Given the description of an element on the screen output the (x, y) to click on. 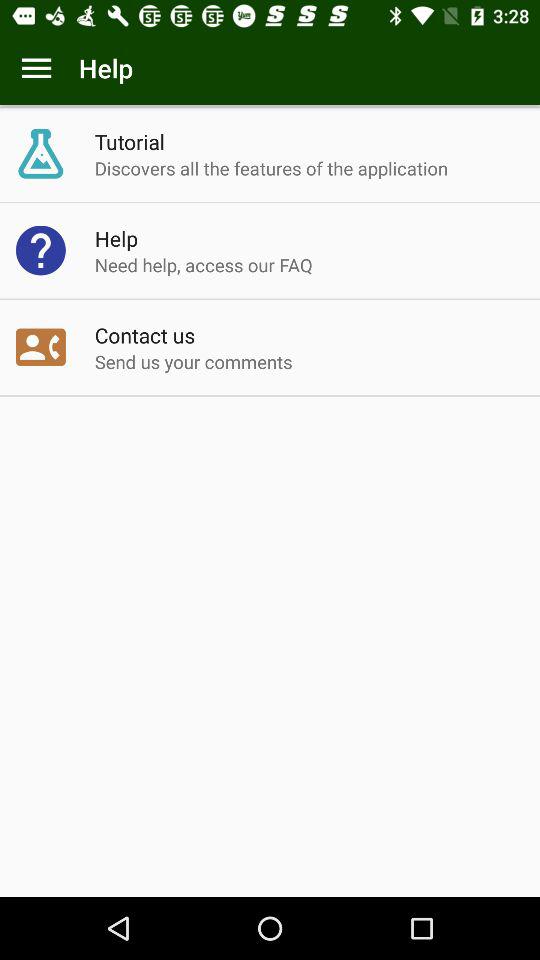
menu (36, 68)
